Given the description of an element on the screen output the (x, y) to click on. 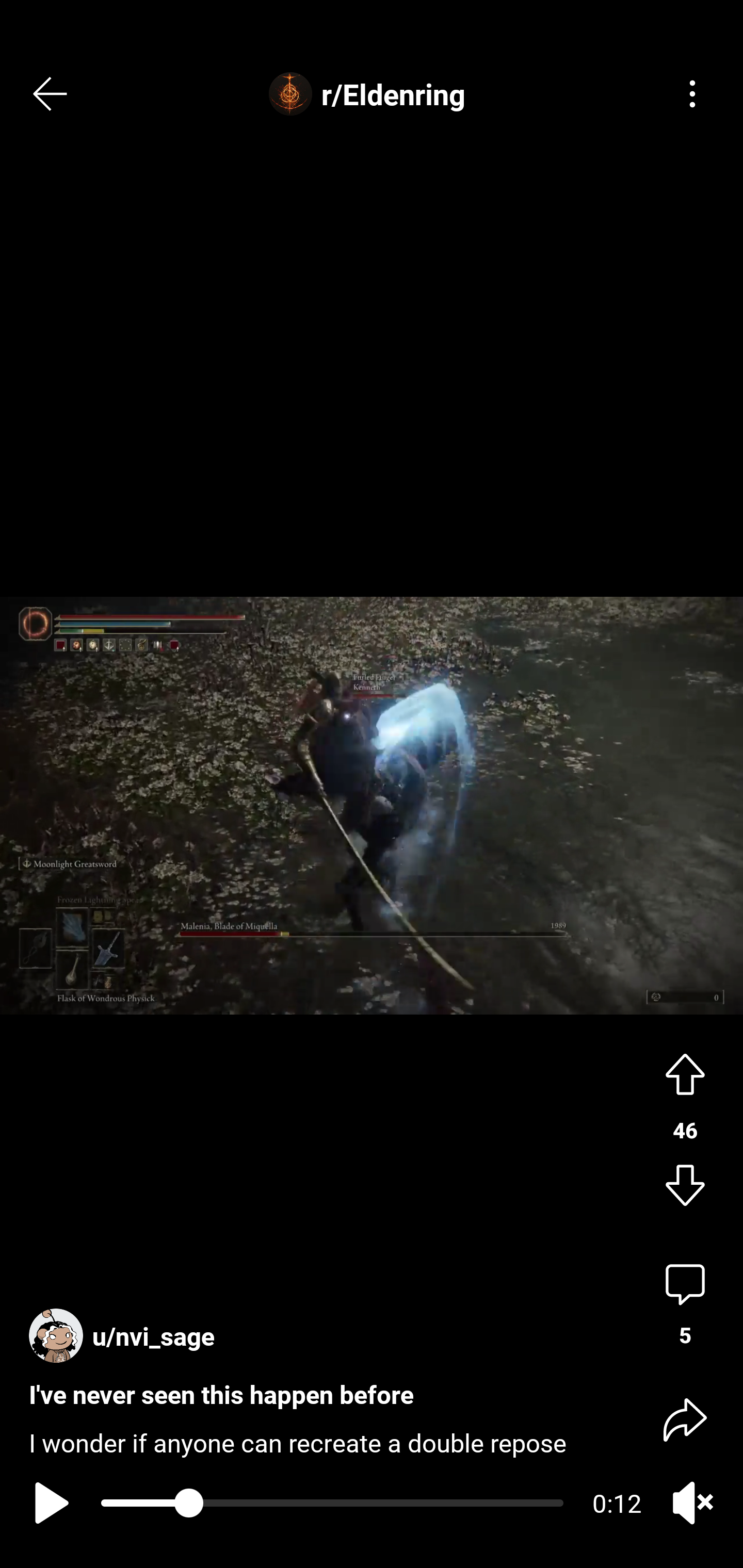
Back (50, 93)
r slash Eldenring (371, 93)
More options (692, 93)
Upvote this post (684, 1071)
Downvote this post (684, 1187)
5 comments (684, 1305)
nvi_sage, post creator (125, 1327)
Share this post (684, 1417)
Play (46, 1502)
Unmute (692, 1502)
